Given the description of an element on the screen output the (x, y) to click on. 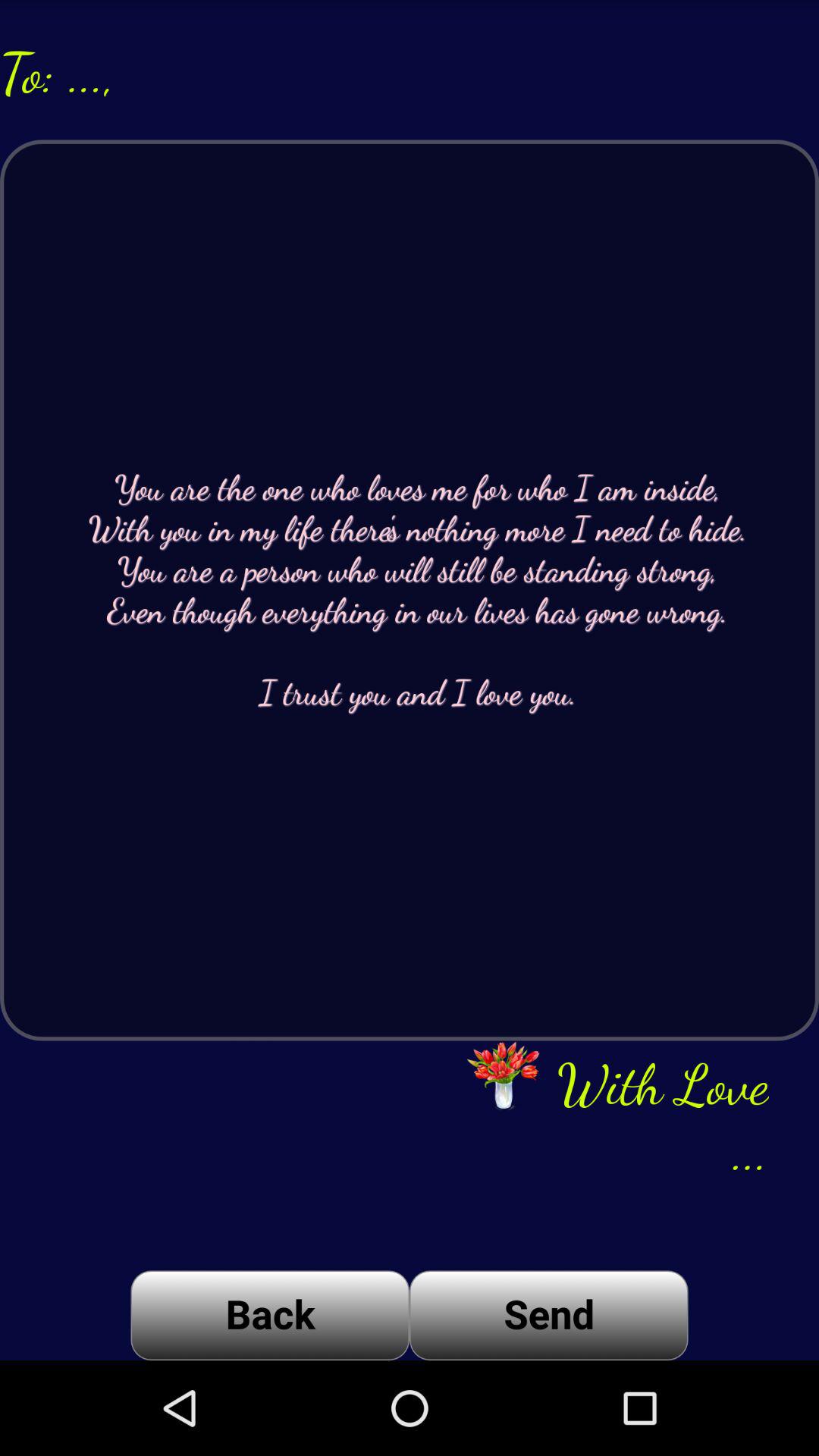
choose the icon to the right of back (548, 1315)
